Given the description of an element on the screen output the (x, y) to click on. 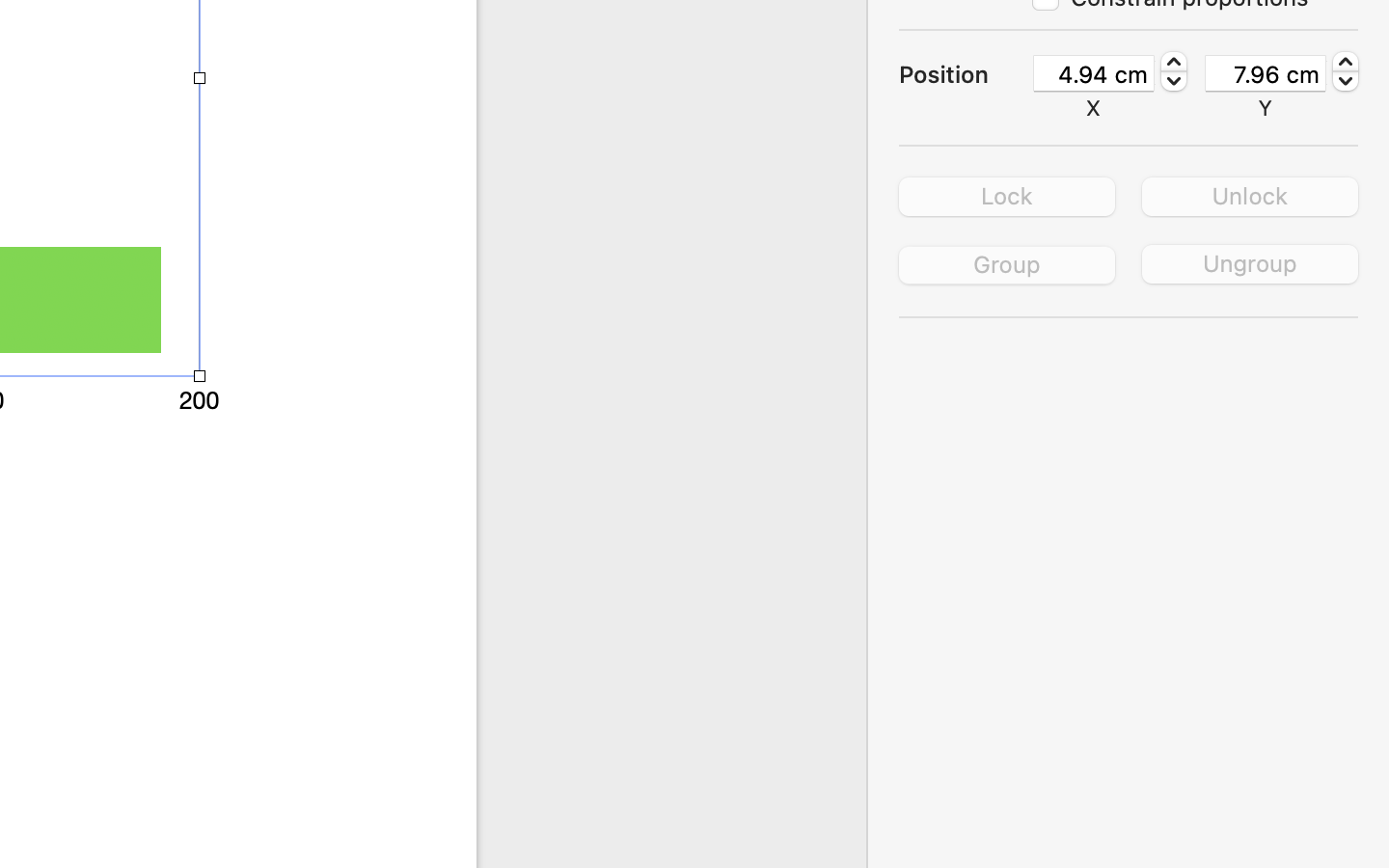
X Element type: AXStaticText (1093, 107)
225.50400390625003 Element type: AXIncrementor (1345, 71)
